Given the description of an element on the screen output the (x, y) to click on. 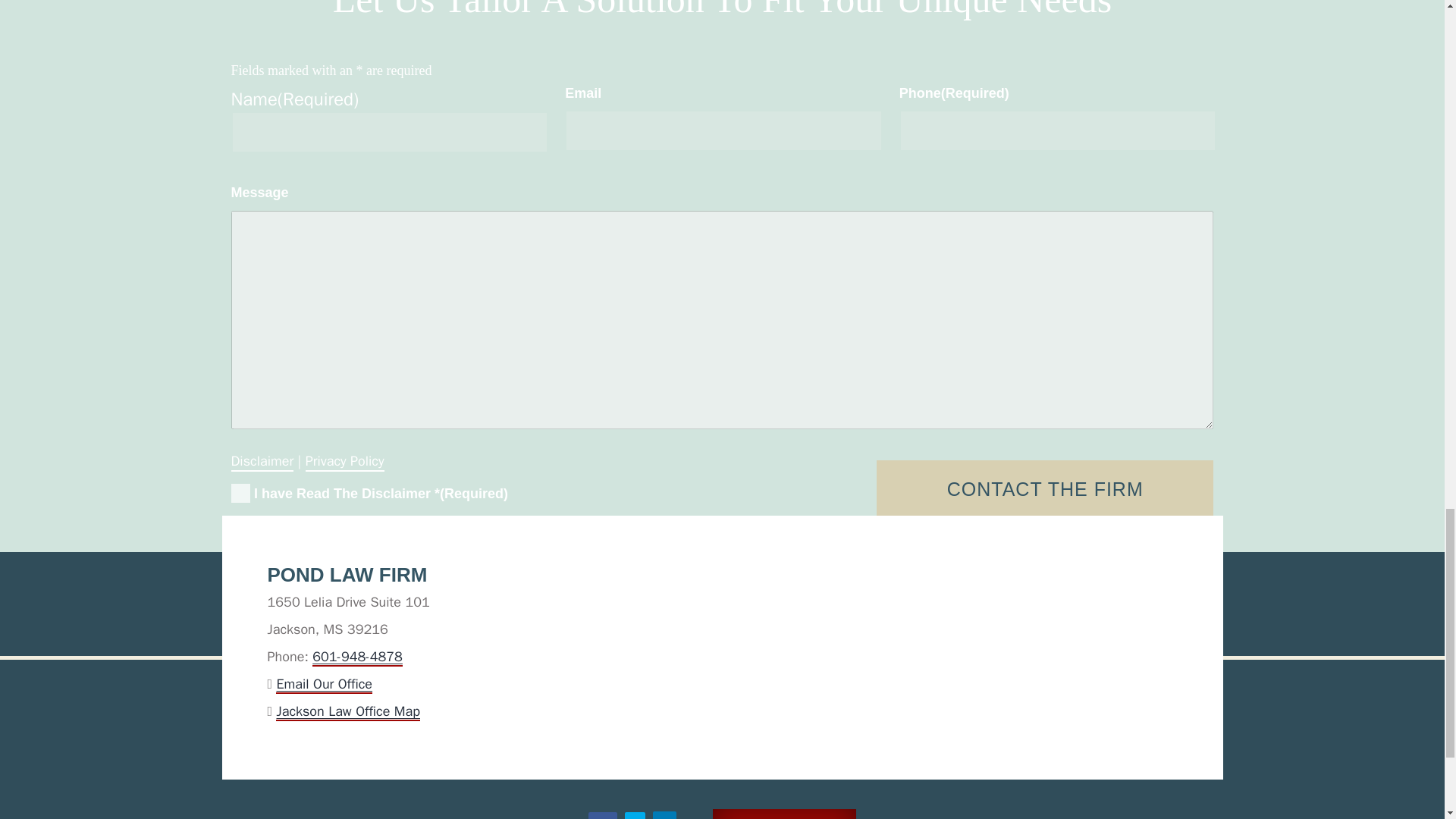
CONTACT THE FIRM (1045, 489)
CONTACT THE FIRM (1045, 489)
601-948-4878 (358, 656)
1 (239, 493)
Email Our Office (324, 683)
Privacy Policy (344, 458)
Disclaimer (262, 458)
